Given the description of an element on the screen output the (x, y) to click on. 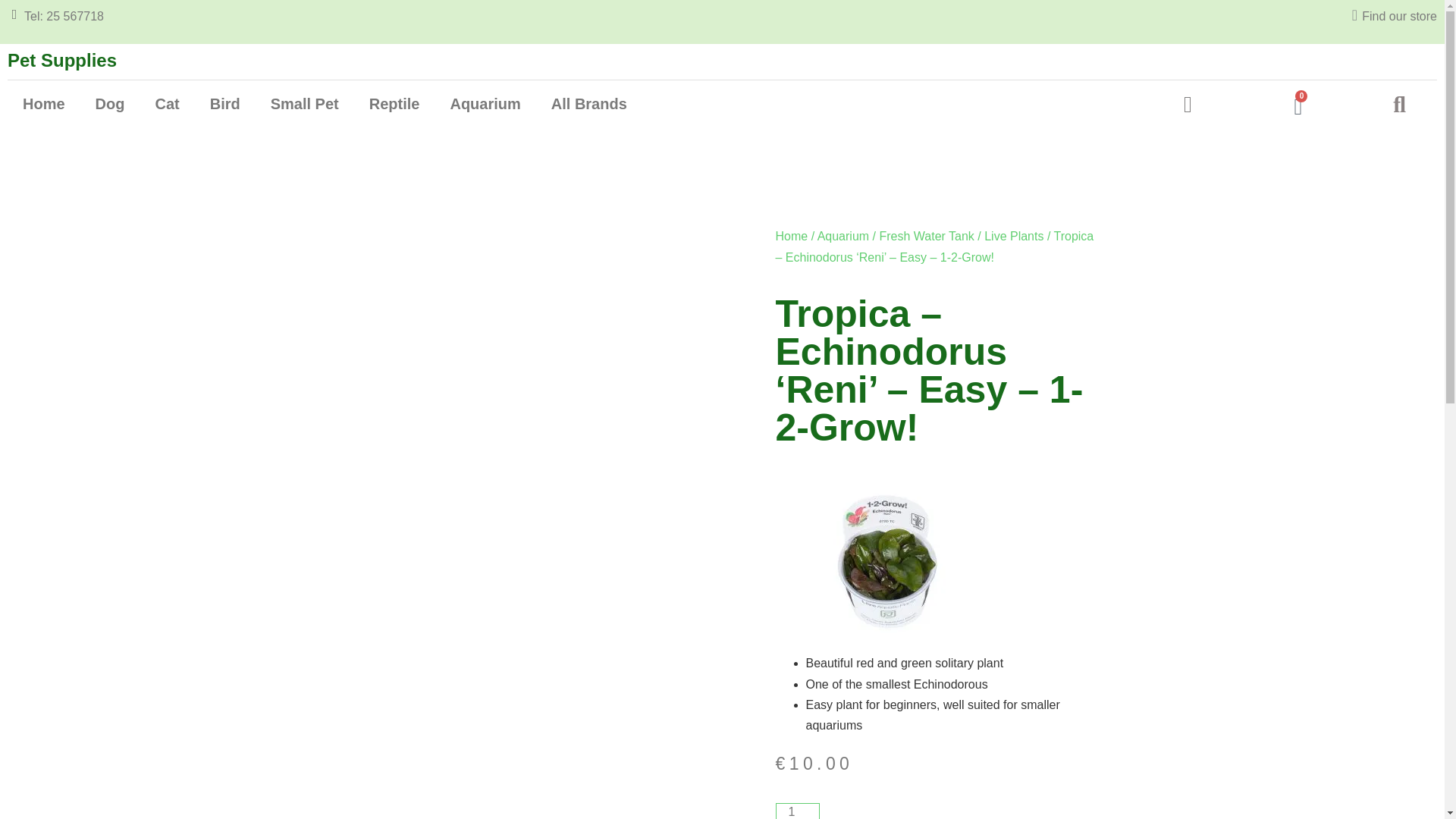
Bird (225, 103)
Cat (166, 103)
Home (43, 103)
1 (796, 811)
Pet Supplies (61, 59)
25 567718 (74, 15)
Dog (109, 103)
